Given the description of an element on the screen output the (x, y) to click on. 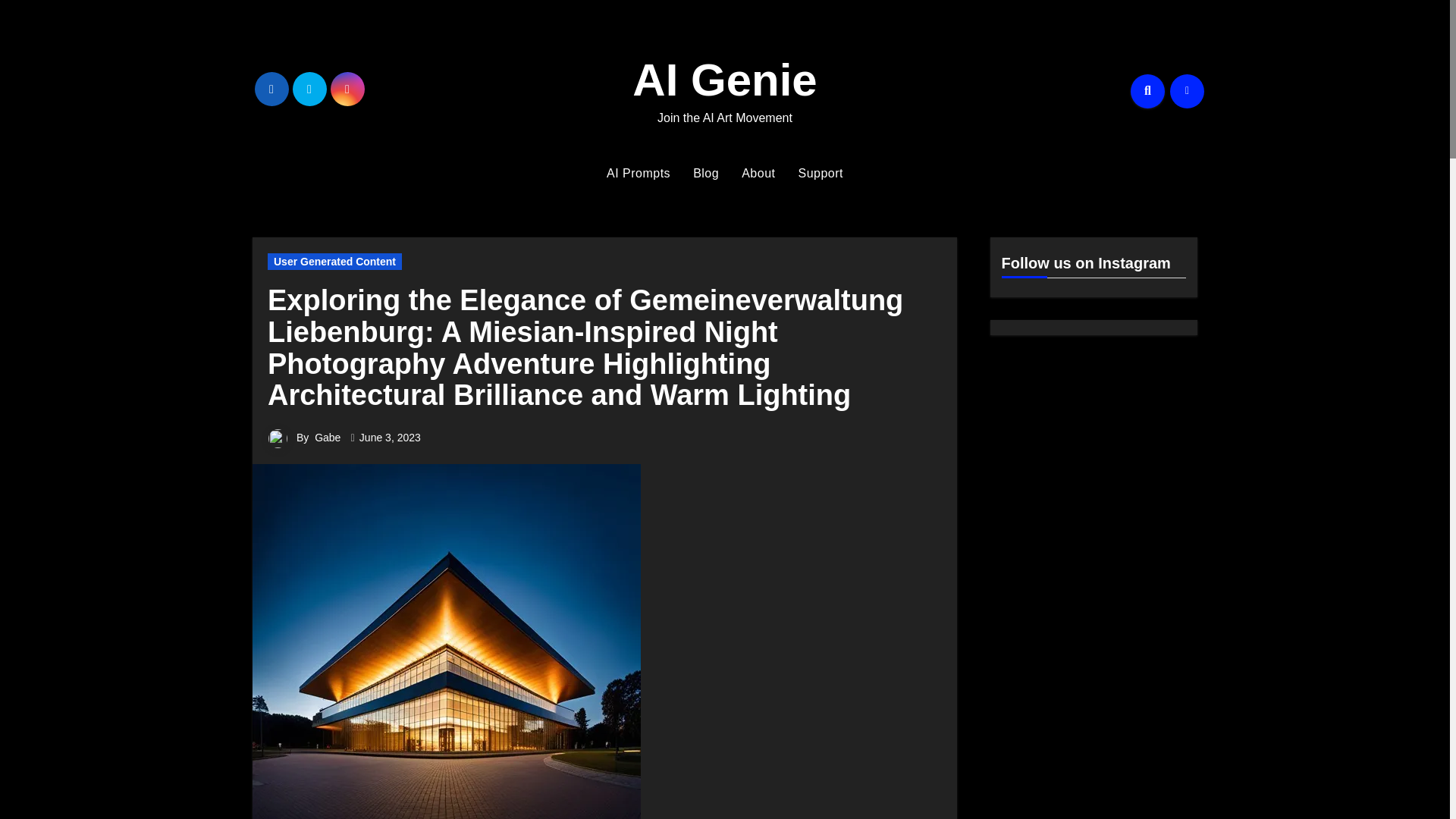
June 3, 2023 (389, 437)
User Generated Content (334, 261)
Blog (705, 173)
About (758, 173)
About (758, 173)
Support (820, 173)
AI Prompts (638, 173)
AI Genie (723, 79)
Blog (705, 173)
Support (820, 173)
AI Prompts (638, 173)
Gabe (327, 437)
